Given the description of an element on the screen output the (x, y) to click on. 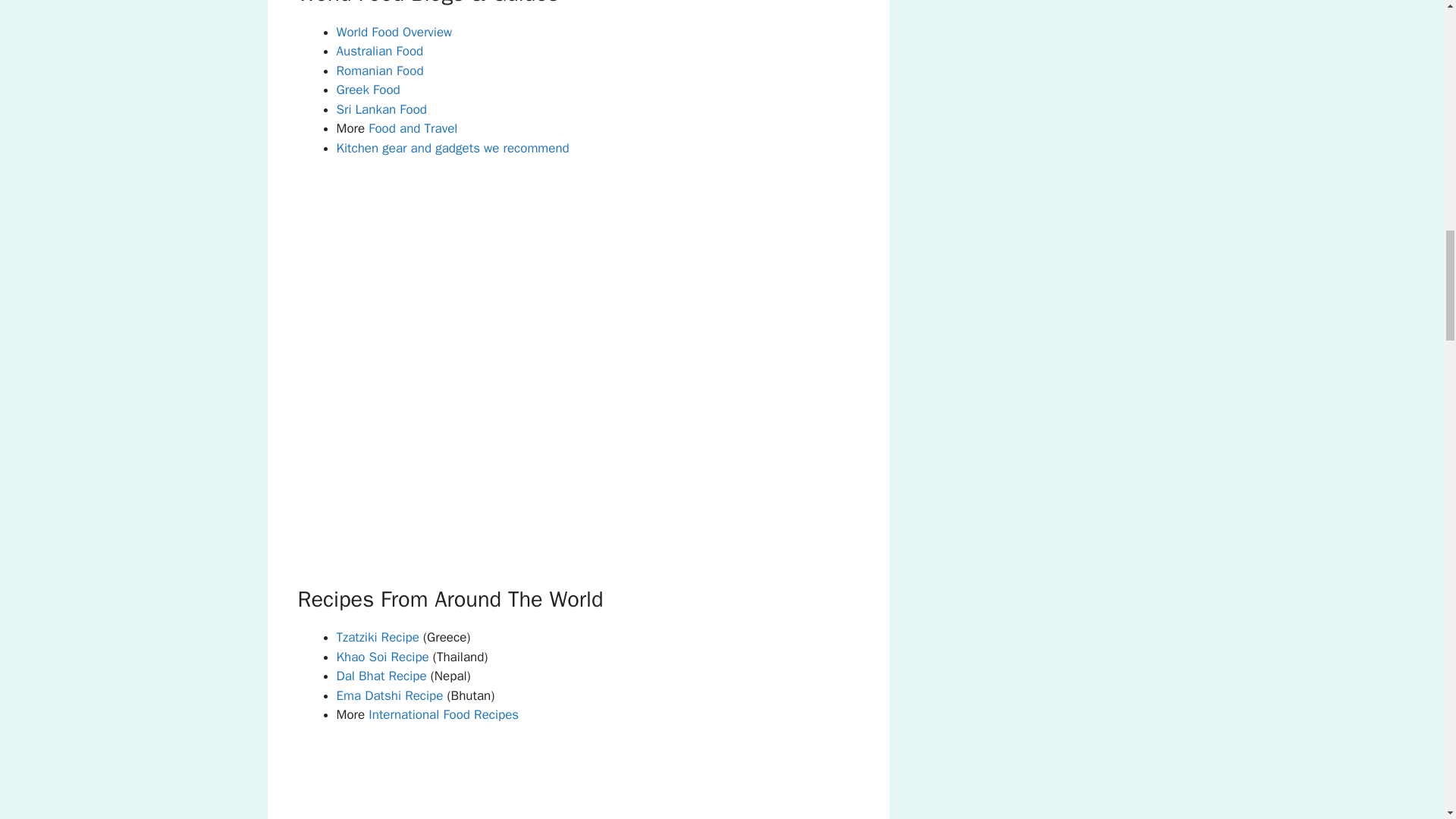
Khao Soi Recipe (382, 657)
Sri Lankan Food (382, 109)
World Food Overview (394, 32)
Romanian Food (379, 70)
Australian Food (379, 50)
Greek Food (368, 89)
Ema Datshi Recipe (390, 695)
Tzatziki Recipe (377, 637)
Food and Travel (411, 128)
Dal Bhat Recipe (381, 675)
International Food Recipes (443, 714)
Kitchen gear and gadgets we recommend (452, 148)
